Given the description of an element on the screen output the (x, y) to click on. 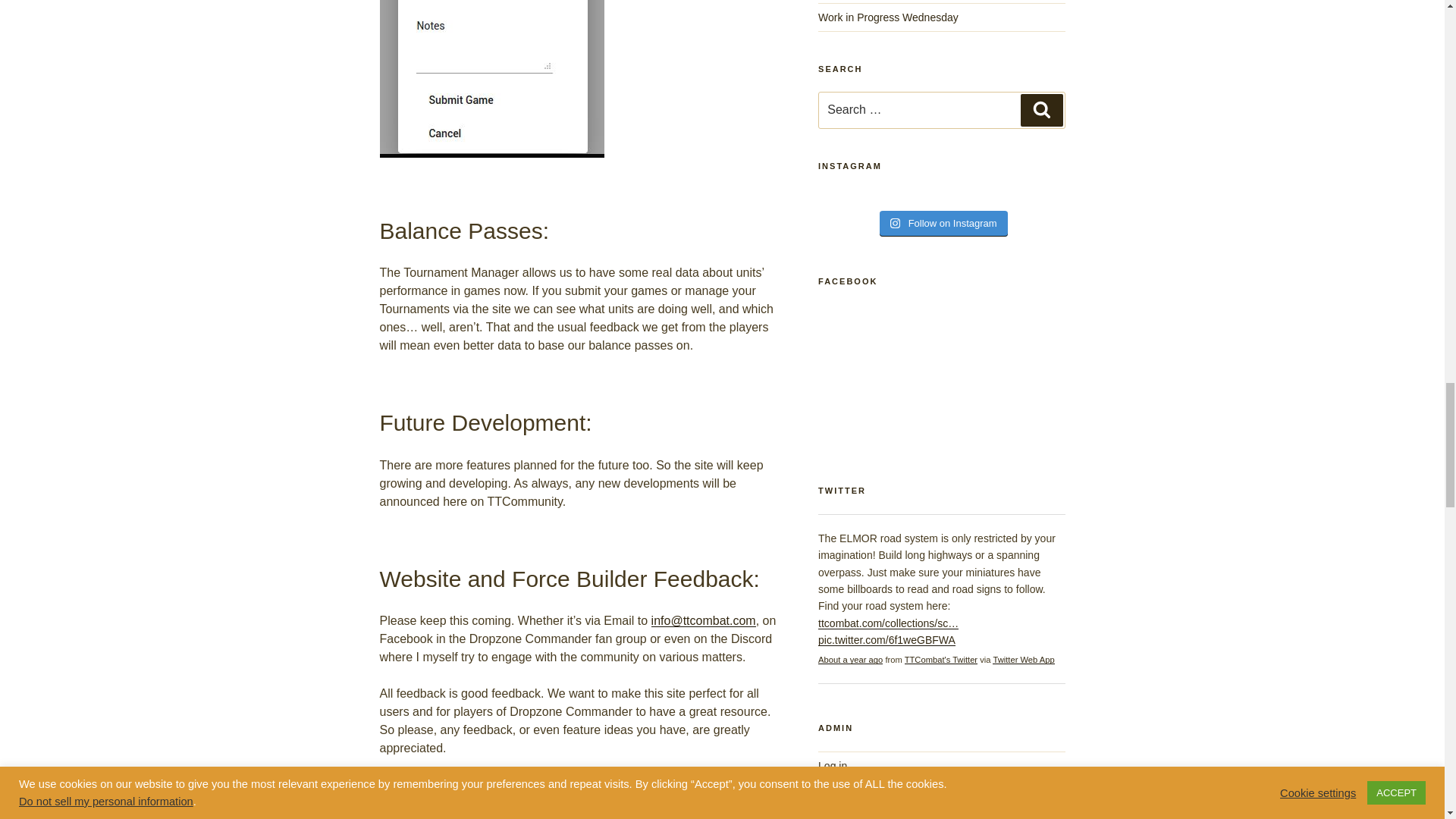
Likebox Iframe (941, 376)
TTCombat (940, 659)
